Given the description of an element on the screen output the (x, y) to click on. 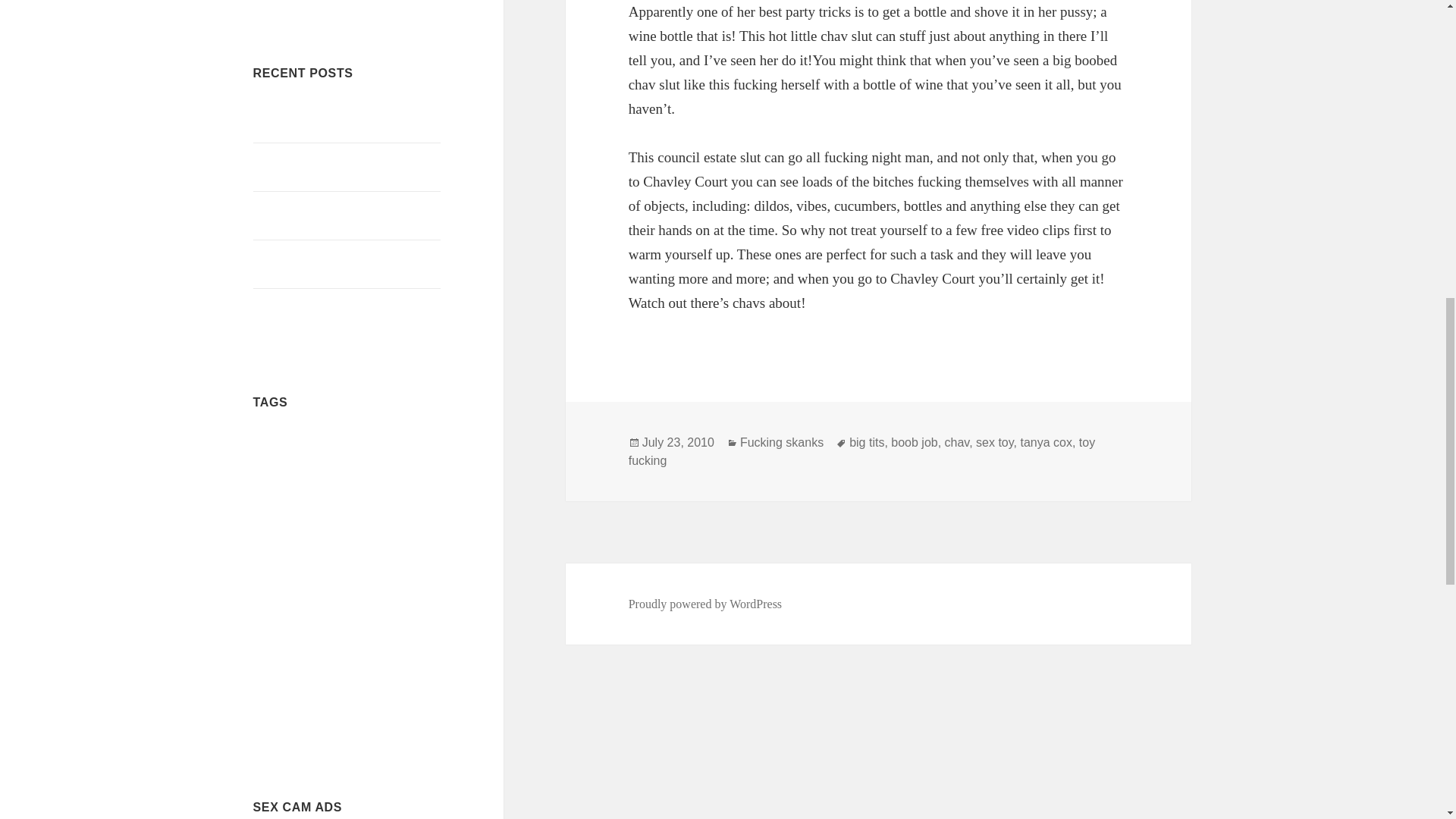
Meet for sex right now at Quick-Fuck.co.uk (333, 166)
kimberly scott (312, 592)
gold (388, 570)
Council Estate Slag On Chatur Webcam Wanking (328, 118)
chav lesbians (275, 524)
chubby chav (389, 524)
horny (269, 590)
blonde (346, 462)
birmingham (288, 462)
dildos (378, 544)
chav (399, 488)
beige boots (331, 442)
big tits (371, 439)
granny chav (418, 570)
